Given the description of an element on the screen output the (x, y) to click on. 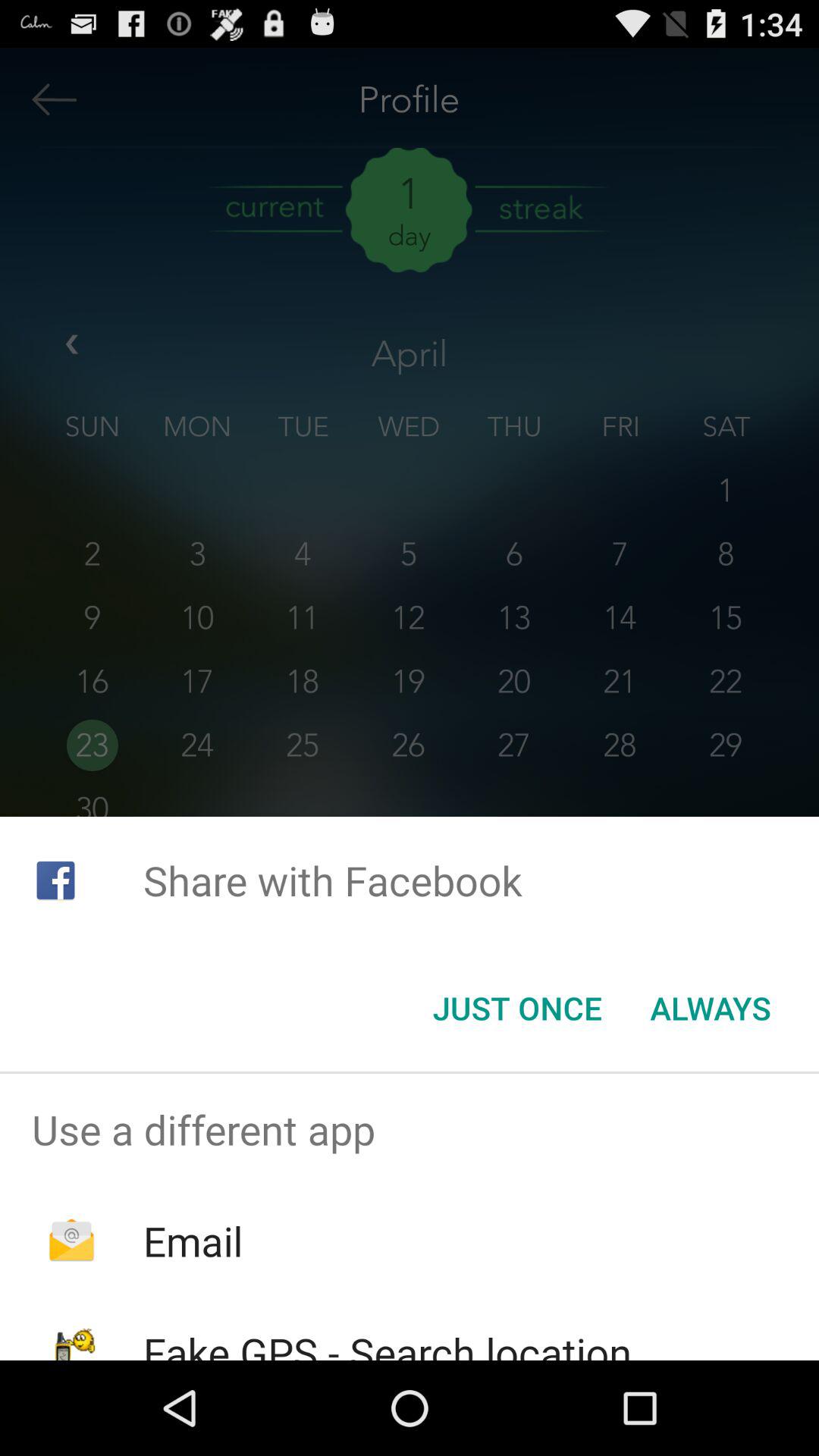
turn on button to the left of always item (517, 1007)
